Given the description of an element on the screen output the (x, y) to click on. 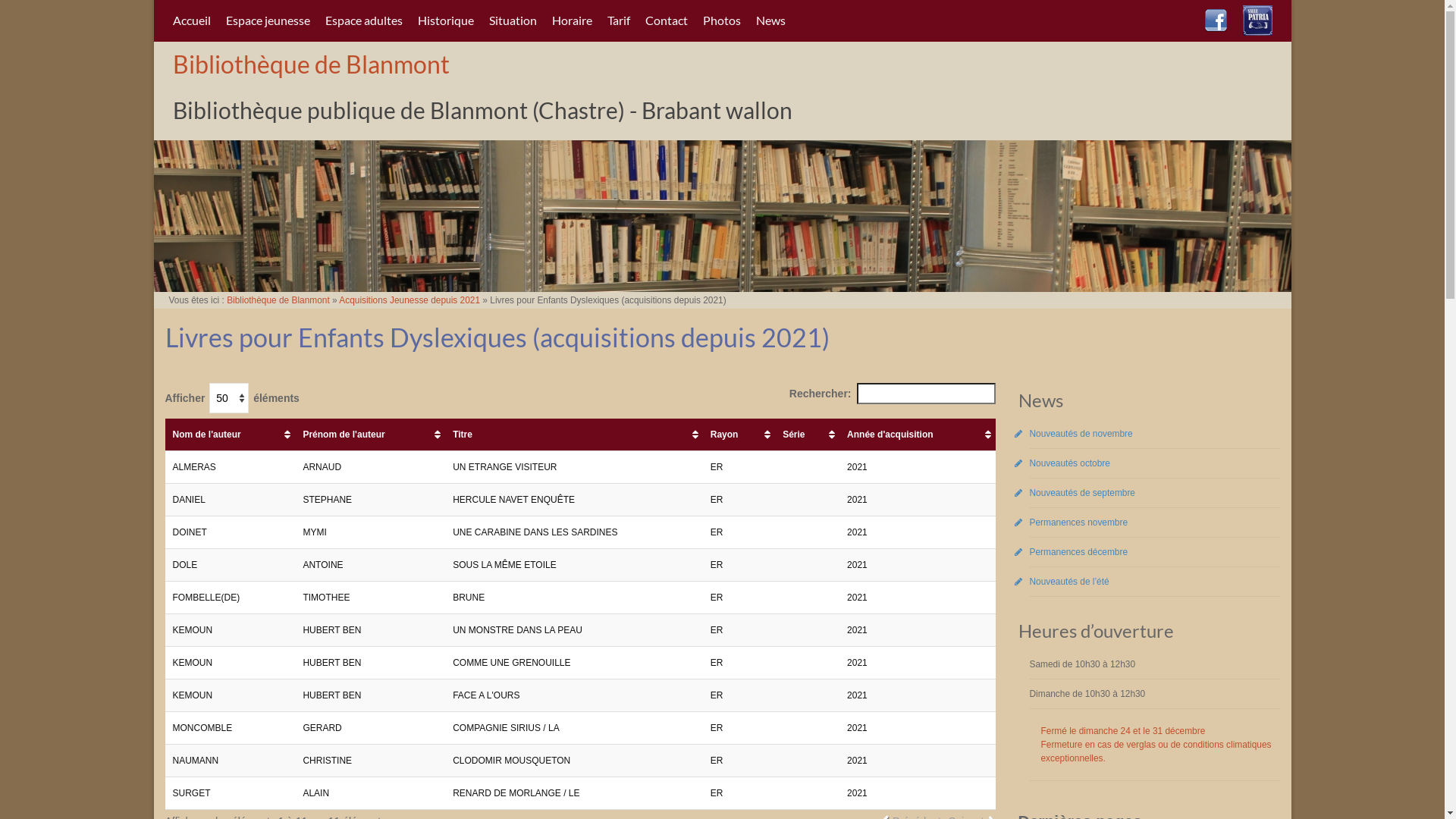
Historique Element type: text (444, 20)
Tarif Element type: text (618, 20)
Espace adultes Element type: text (362, 20)
Acquisitions Jeunesse depuis 2021 Element type: text (409, 299)
Espace jeunesse Element type: text (267, 20)
Contact Element type: text (665, 20)
Situation Element type: text (511, 20)
Permanences novembre Element type: text (1078, 522)
Horaire Element type: text (571, 20)
Photos Element type: text (720, 20)
Accueil Element type: text (191, 20)
News Element type: text (769, 20)
